Given the description of an element on the screen output the (x, y) to click on. 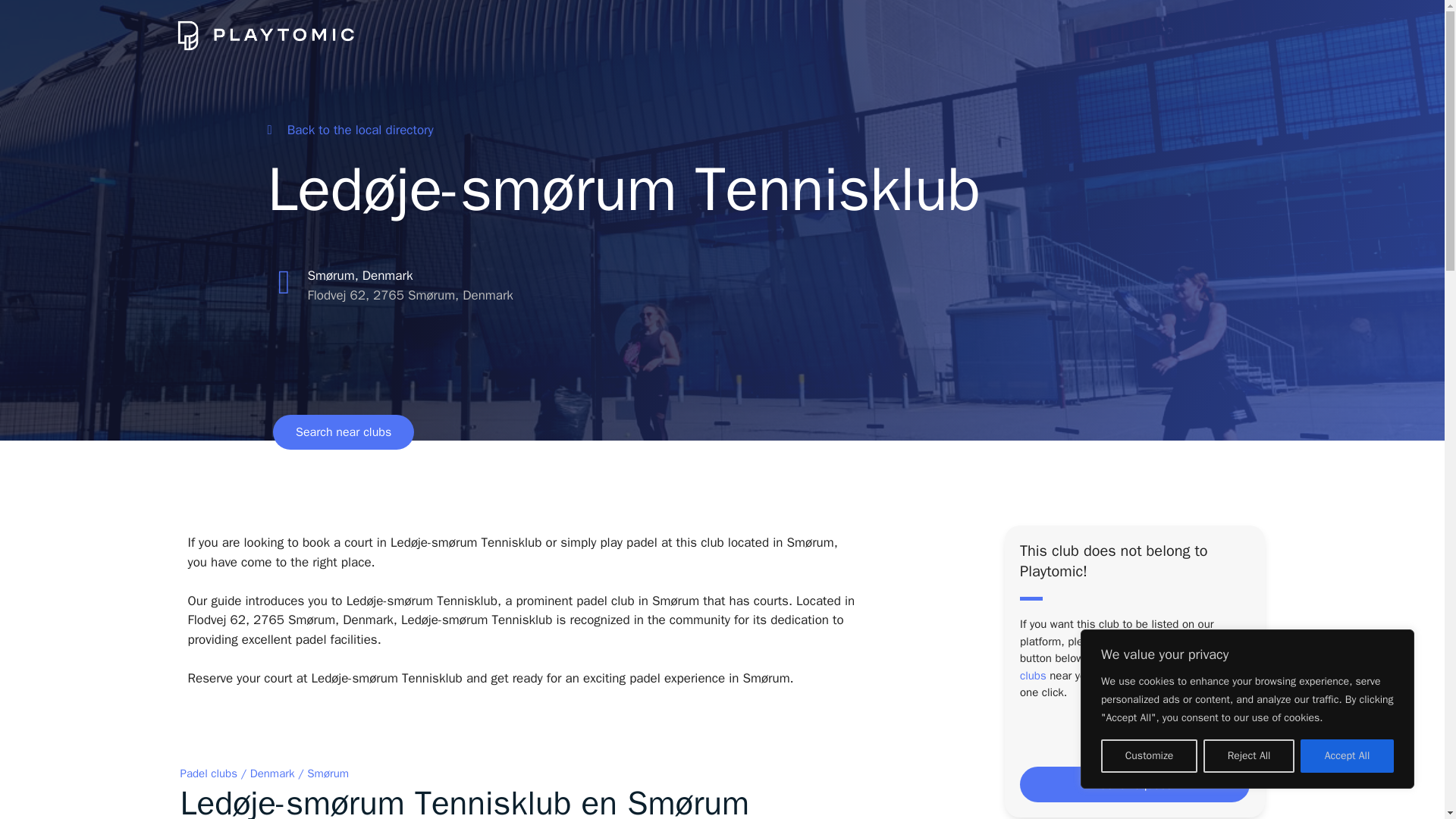
Accept All (1346, 756)
Denmark (272, 773)
Send request (1134, 784)
search for other clubs (1128, 666)
Back to the local directory (349, 130)
Search near clubs (343, 431)
Reject All (1249, 756)
Customize (1148, 756)
Padel clubs (208, 773)
